Given the description of an element on the screen output the (x, y) to click on. 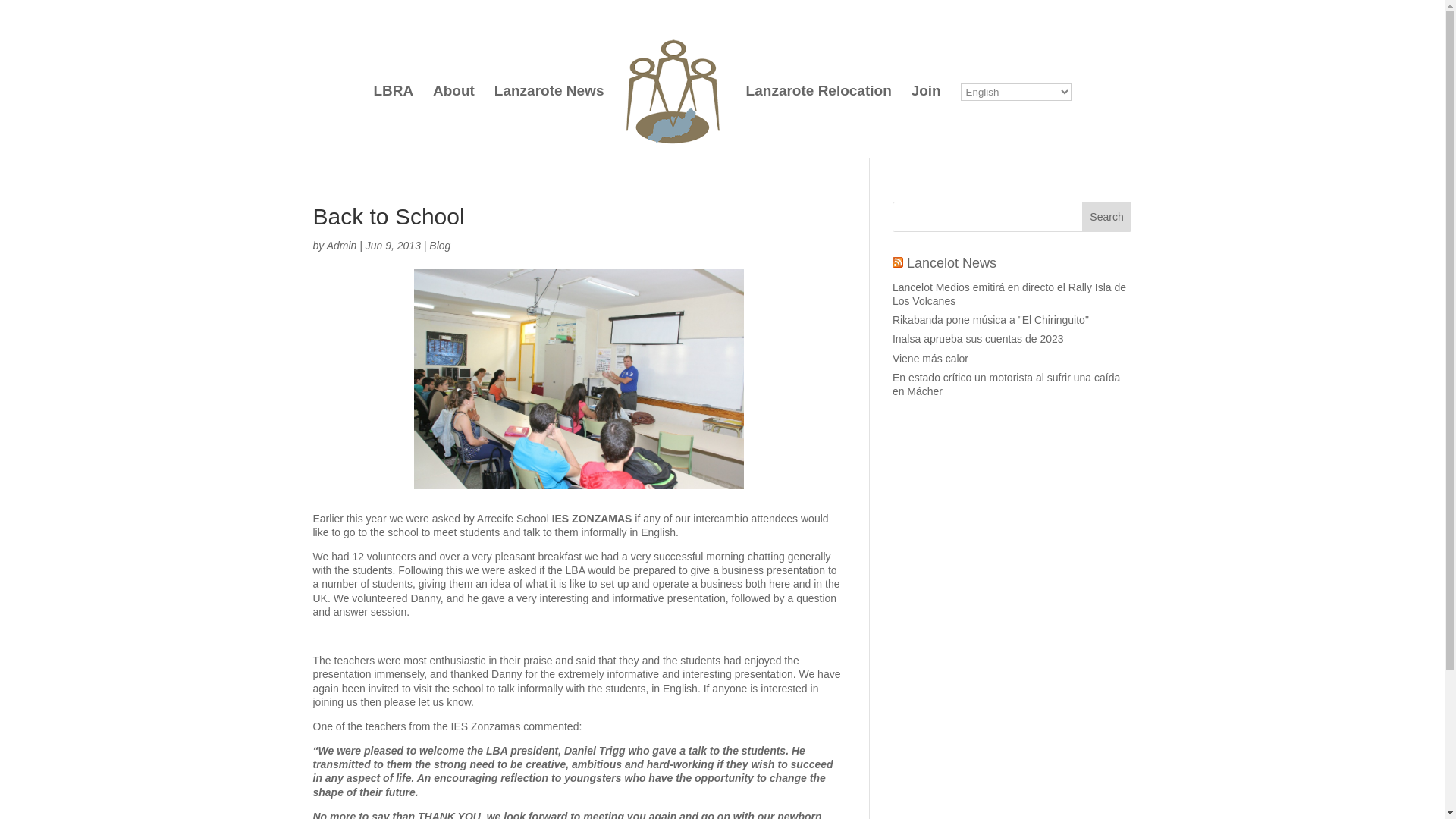
Search (1106, 216)
Lancelot News (951, 263)
Inalsa aprueba sus cuentas de 2023 (978, 338)
Posts by Admin (341, 245)
Search (1106, 216)
Lanzarote Relocation (818, 121)
Blog (439, 245)
Admin (341, 245)
Lanzarote News (549, 121)
